Given the description of an element on the screen output the (x, y) to click on. 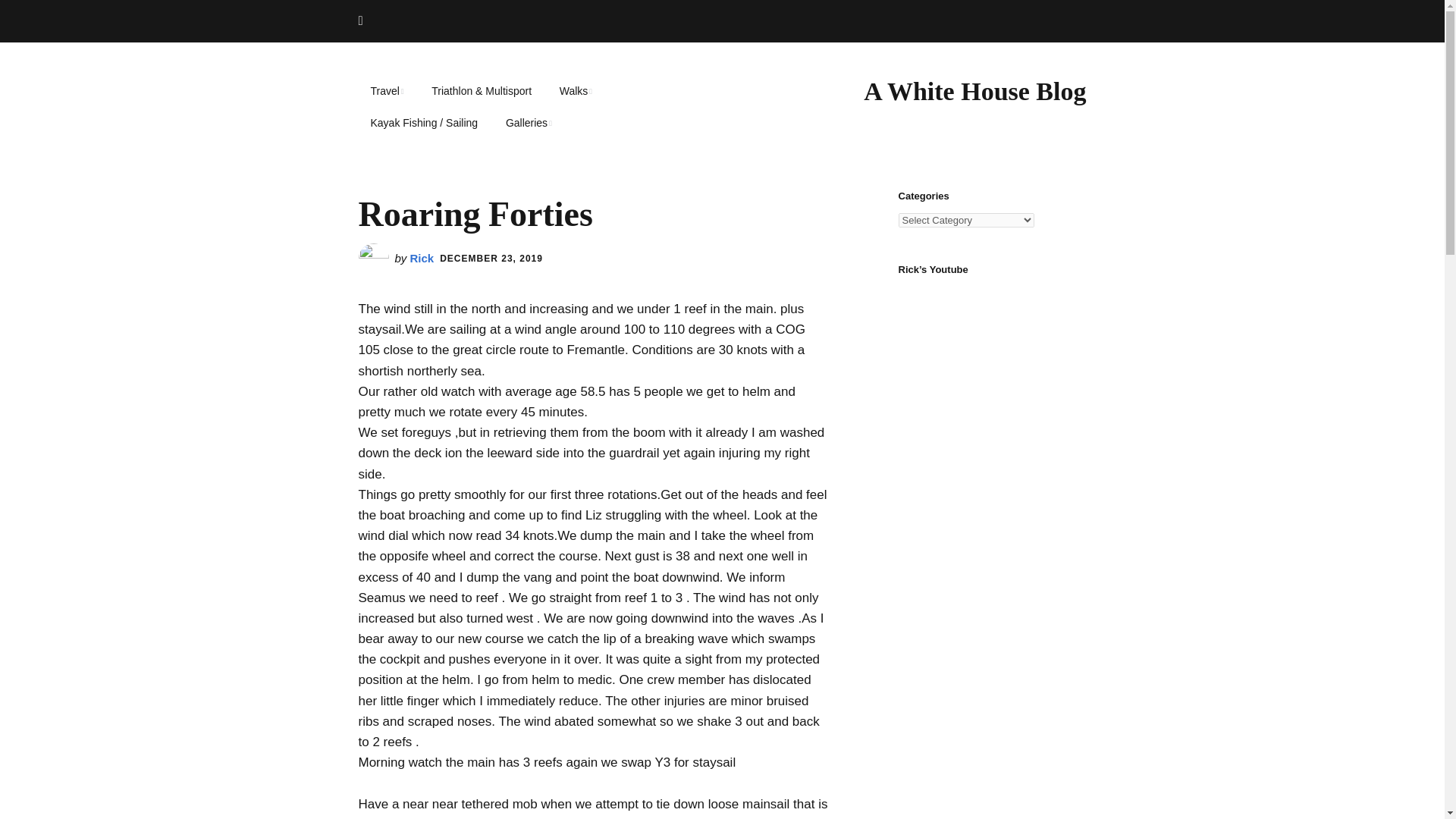
Travel (386, 91)
YouTube player (992, 343)
Walks (575, 91)
A White House Blog (974, 90)
Galleries (528, 123)
